Given the description of an element on the screen output the (x, y) to click on. 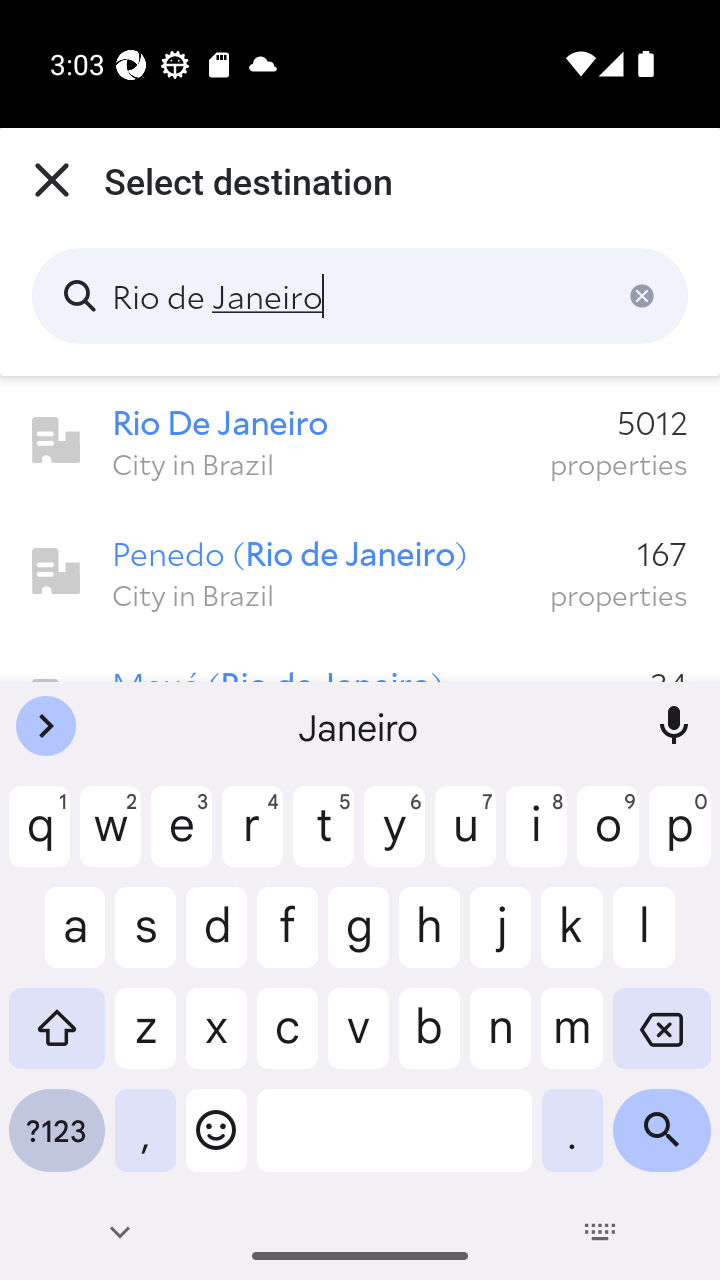
Rio de Janeiro (359, 296)
Rio De Janeiro 5012 City in Brazil properties (360, 441)
